Given the description of an element on the screen output the (x, y) to click on. 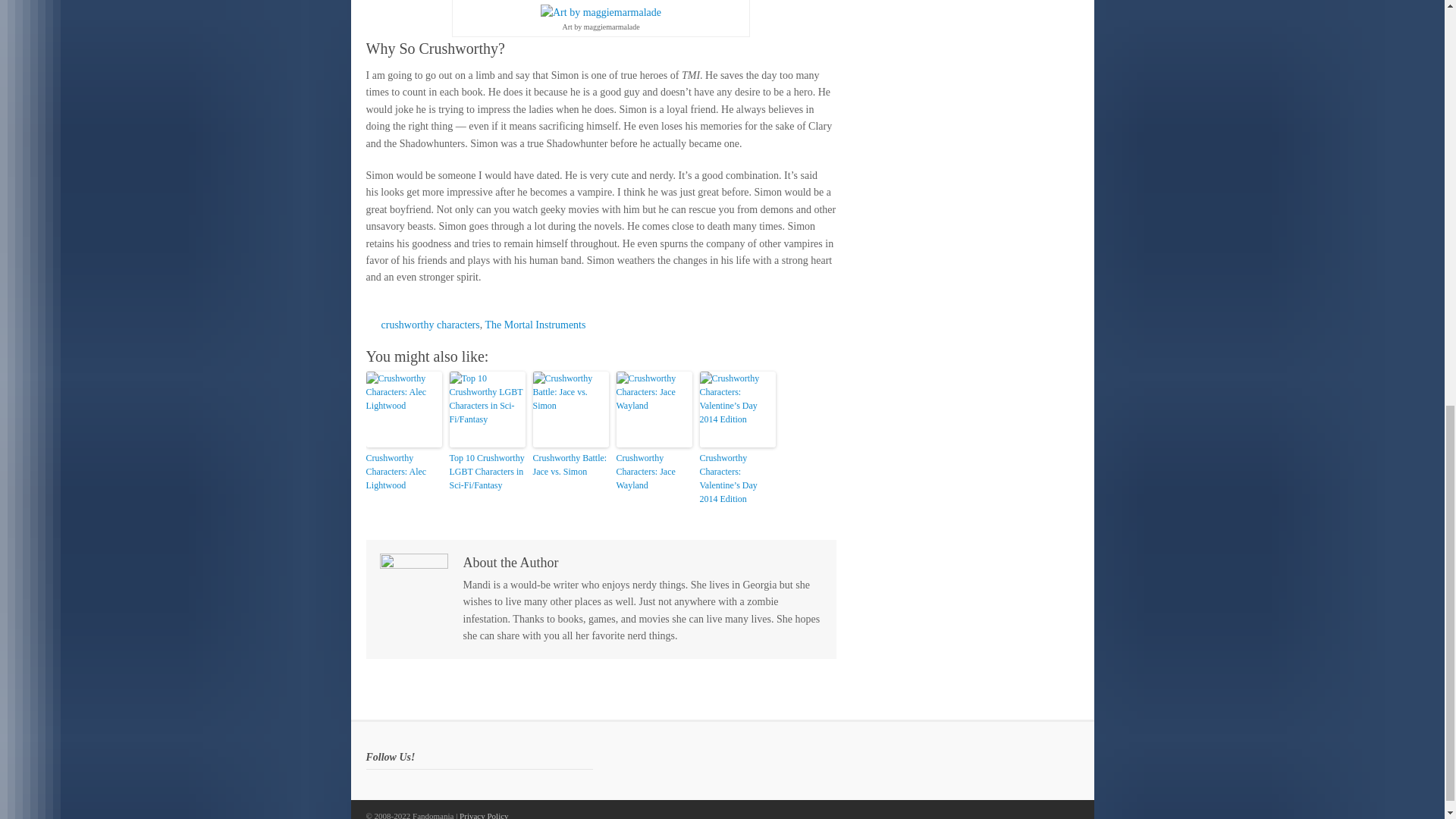
The Mortal Instruments (534, 324)
crushworthy characters (429, 324)
Crushworthy Characters: Alec Lightwood (403, 471)
Crushworthy Battle: Jace vs. Simon (570, 464)
Crushworthy Characters: Jace Wayland (653, 471)
